Given the description of an element on the screen output the (x, y) to click on. 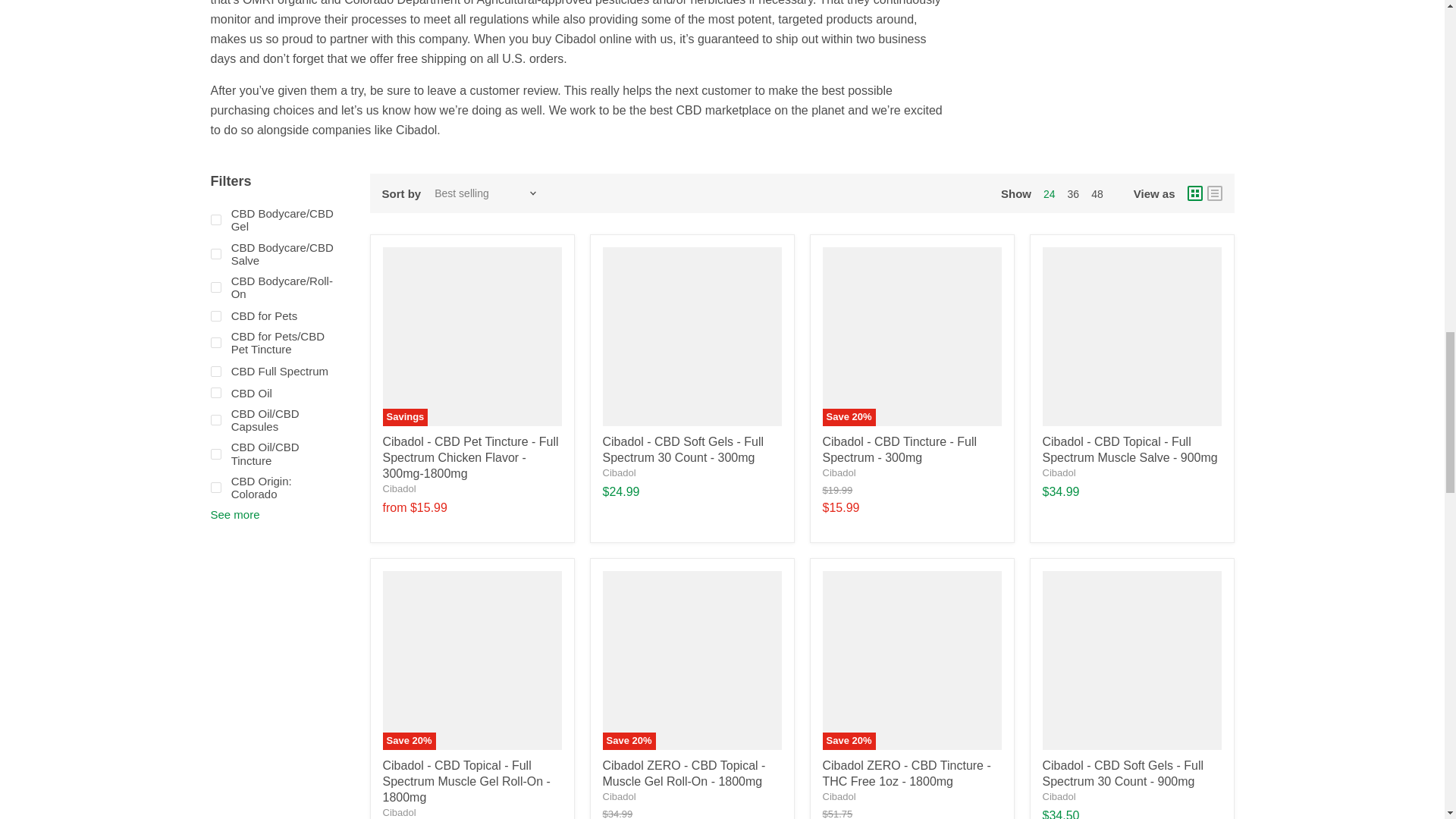
Cibadol (397, 488)
